Given the description of an element on the screen output the (x, y) to click on. 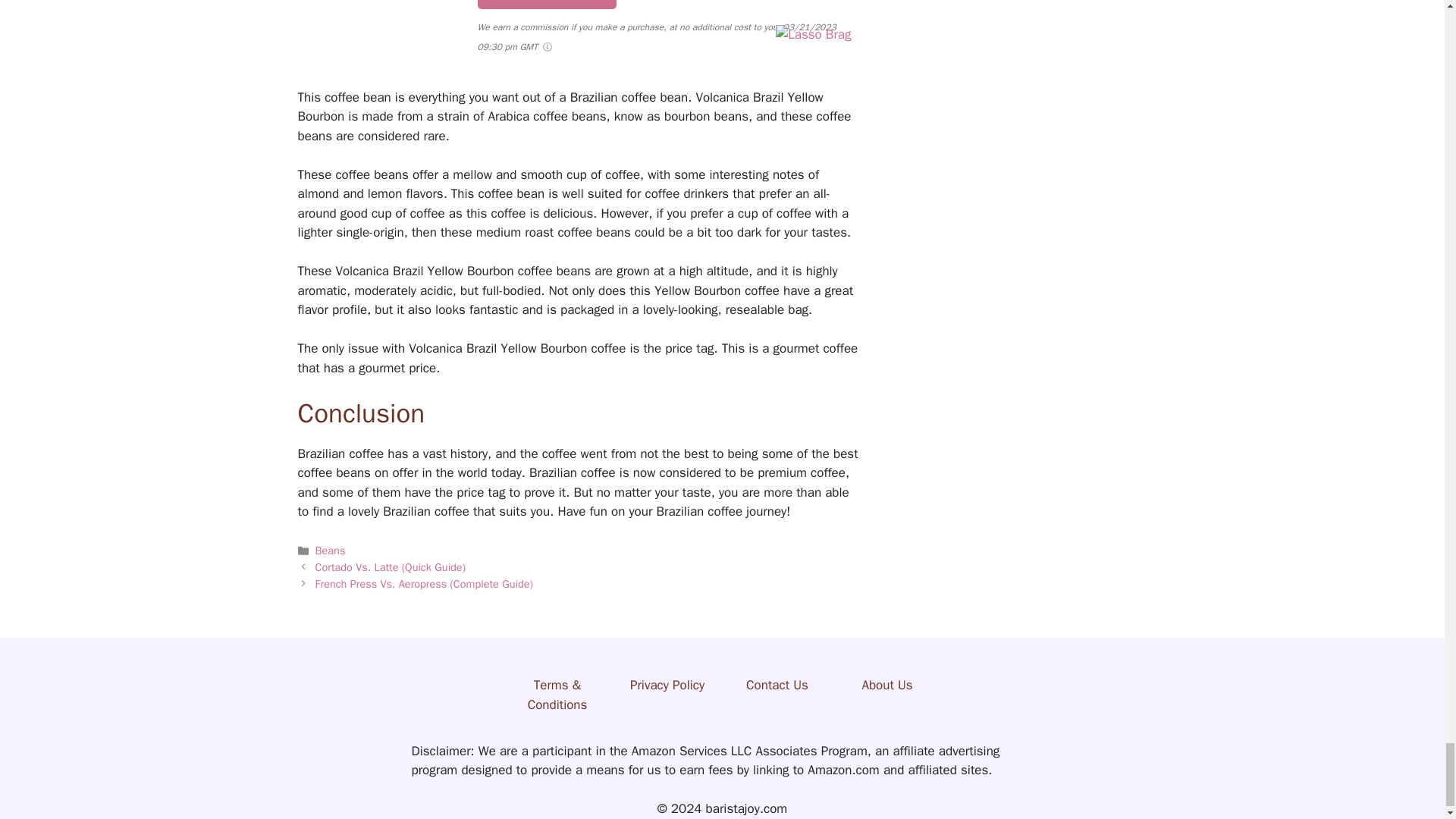
Beans (330, 550)
Check Price on Amazon (546, 4)
